Given the description of an element on the screen output the (x, y) to click on. 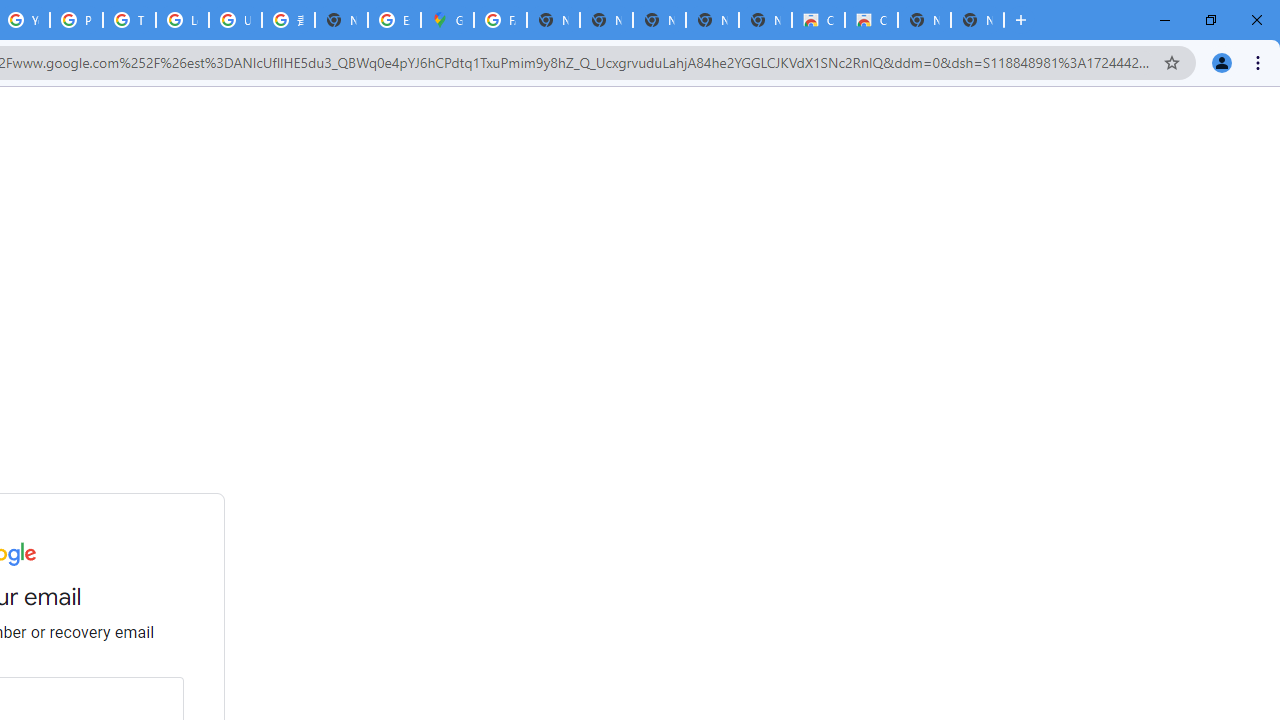
Bookmark this tab (1171, 62)
You (1221, 62)
Restore (1210, 20)
